Given the description of an element on the screen output the (x, y) to click on. 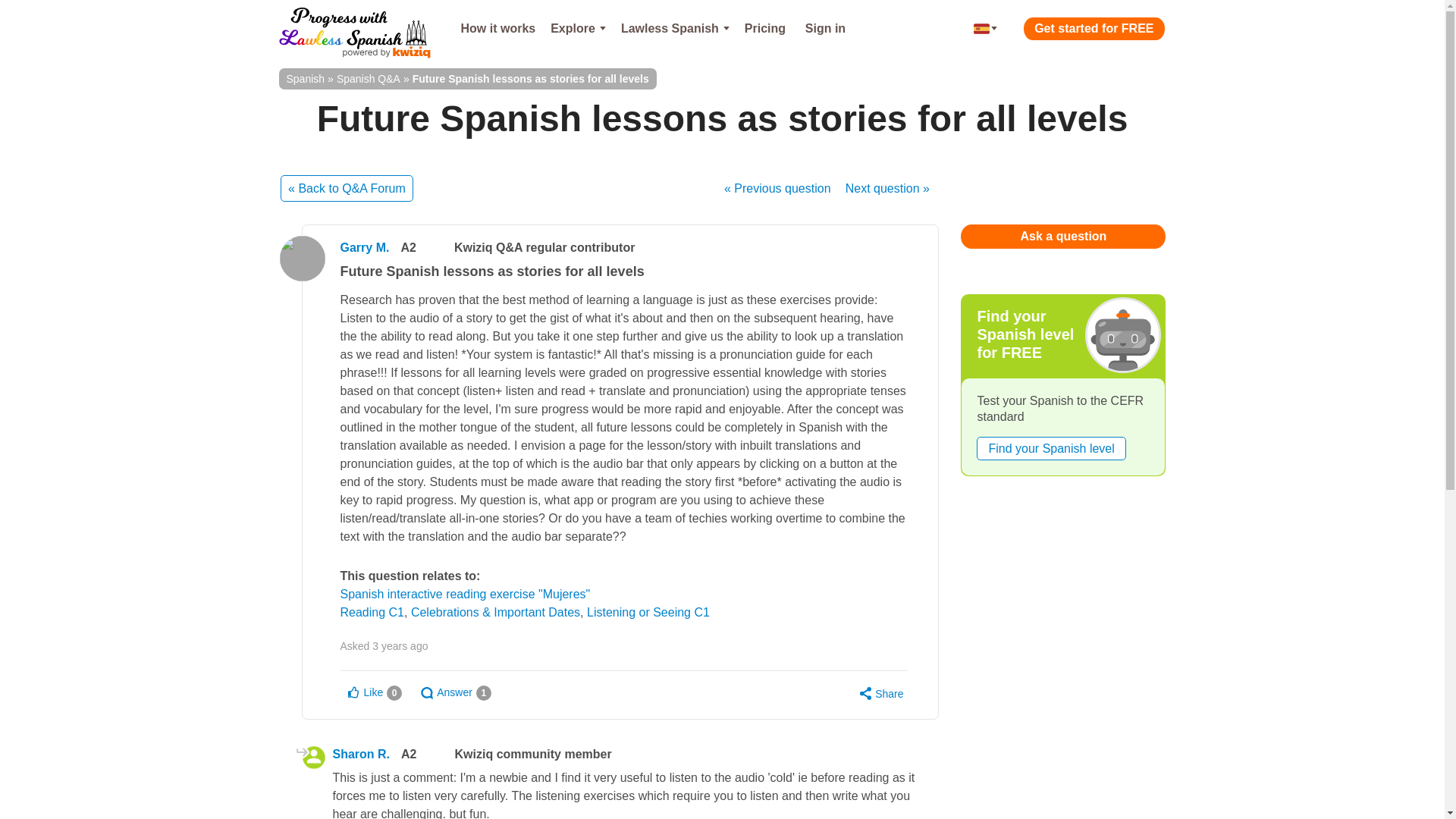
Explore (577, 28)
19th March 2021 (400, 645)
Lawless Spanish (674, 28)
How it works (497, 28)
